Given the description of an element on the screen output the (x, y) to click on. 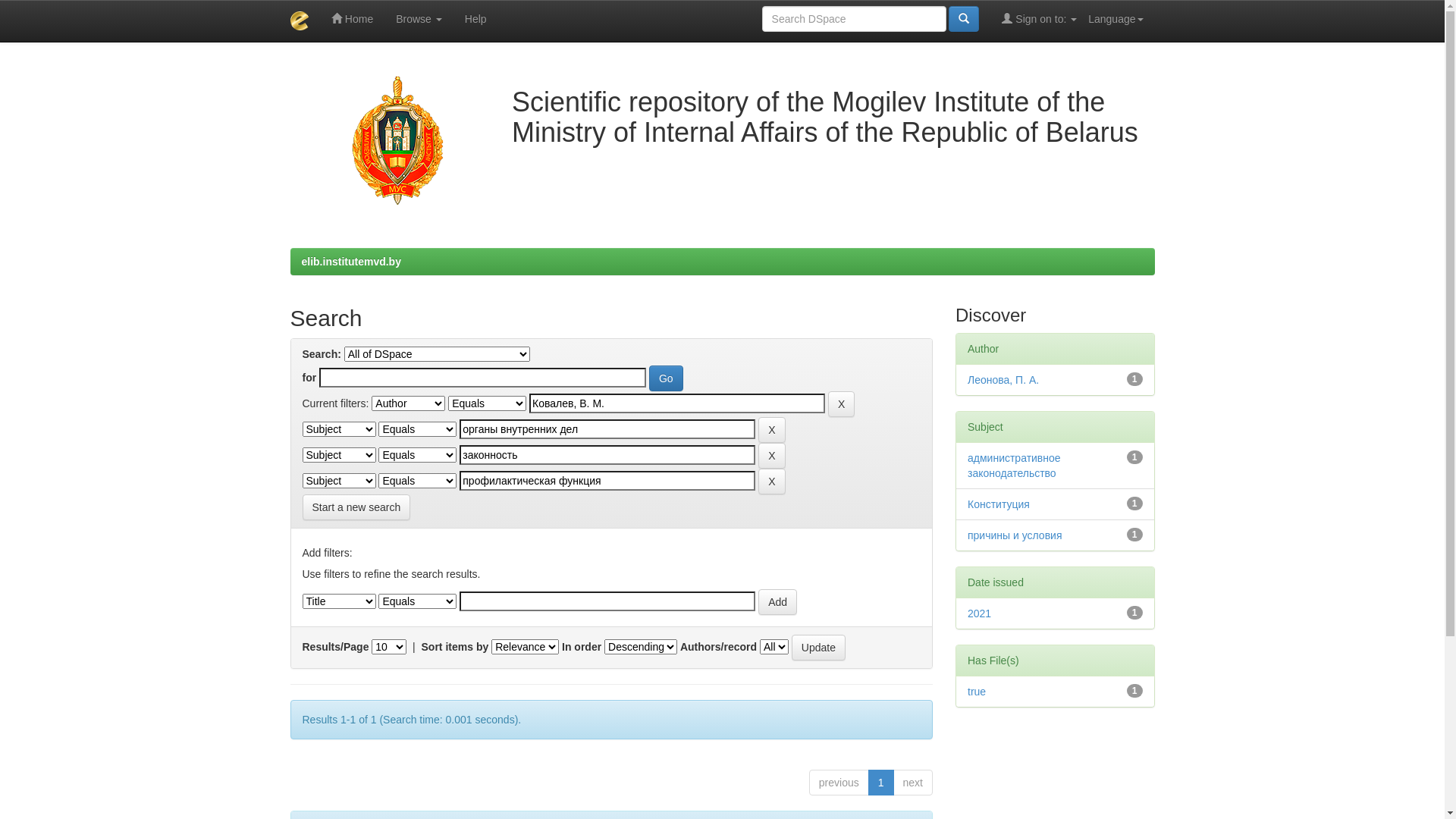
elib.institutemvd.by Element type: text (351, 261)
Help Element type: text (475, 18)
Sign on to: Element type: text (1039, 18)
Update Element type: text (818, 647)
Home Element type: text (352, 18)
true Element type: text (976, 691)
X Element type: text (771, 481)
Go Element type: text (666, 378)
X Element type: text (771, 455)
X Element type: text (841, 404)
Start a new search Element type: text (355, 507)
X Element type: text (771, 429)
2021 Element type: text (979, 613)
Add Element type: text (777, 602)
Language Element type: text (1115, 18)
Browse Element type: text (418, 18)
